Given the description of an element on the screen output the (x, y) to click on. 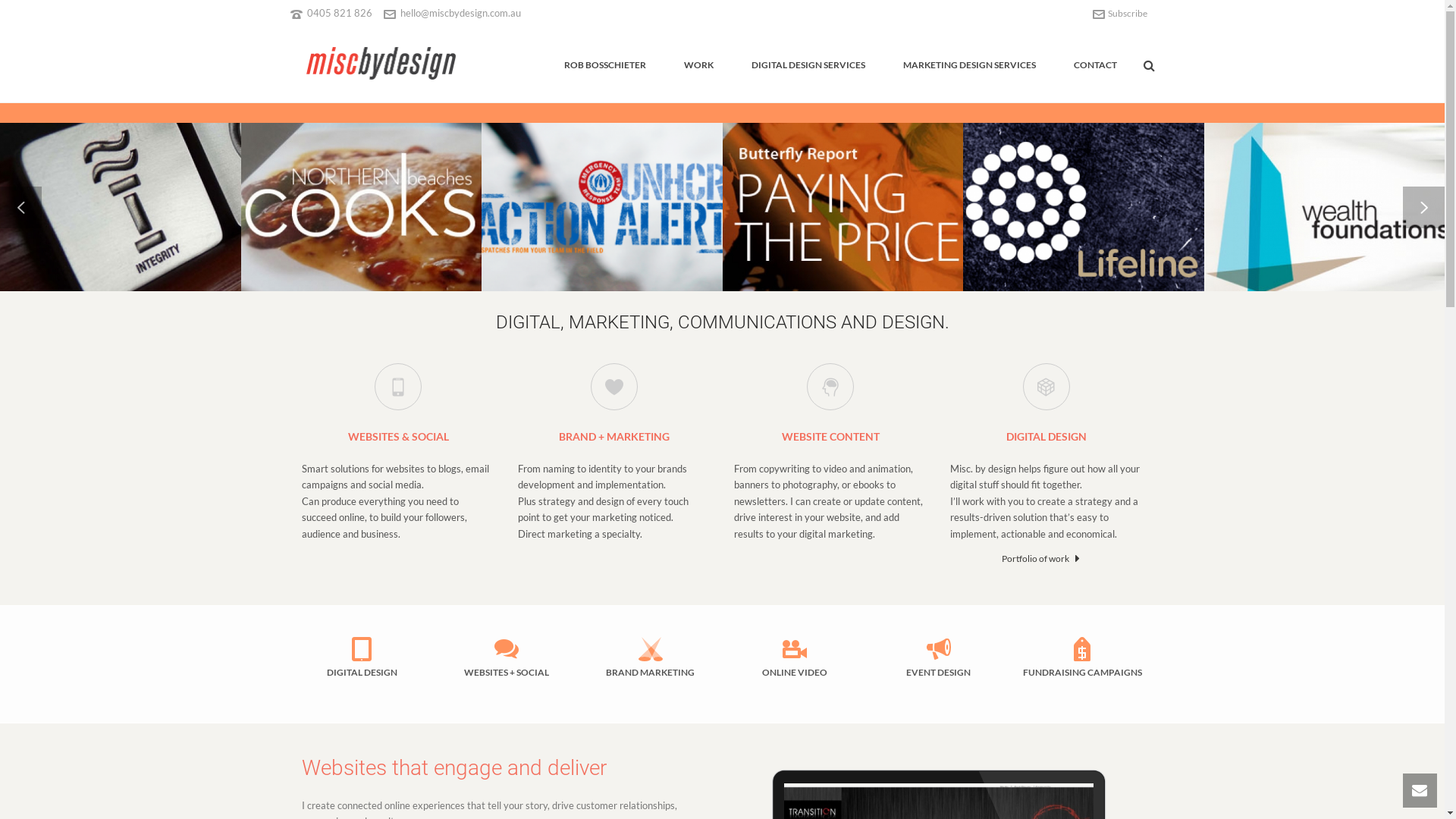
DIGITAL DESIGN Element type: text (1046, 435)
Lifeline Sydney Element type: hover (1068, 196)
CONTACT Element type: text (1094, 65)
Northern Beaches Cooks Element type: hover (346, 196)
Butterfly Report Element type: hover (827, 196)
Wealth Foundations Element type: hover (1309, 196)
Subscribe Element type: text (1119, 12)
hello@miscbydesign.com.au Element type: text (460, 12)
WORK Element type: text (697, 65)
Portfolio of work Element type: text (1040, 558)
DIGITAL DESIGN SERVICES Element type: text (808, 65)
ROB BOSSCHIETER Element type: text (604, 65)
Donor engagement / retention / direct marketing Element type: hover (587, 196)
MARKETING DESIGN SERVICES Element type: text (969, 65)
